Given the description of an element on the screen output the (x, y) to click on. 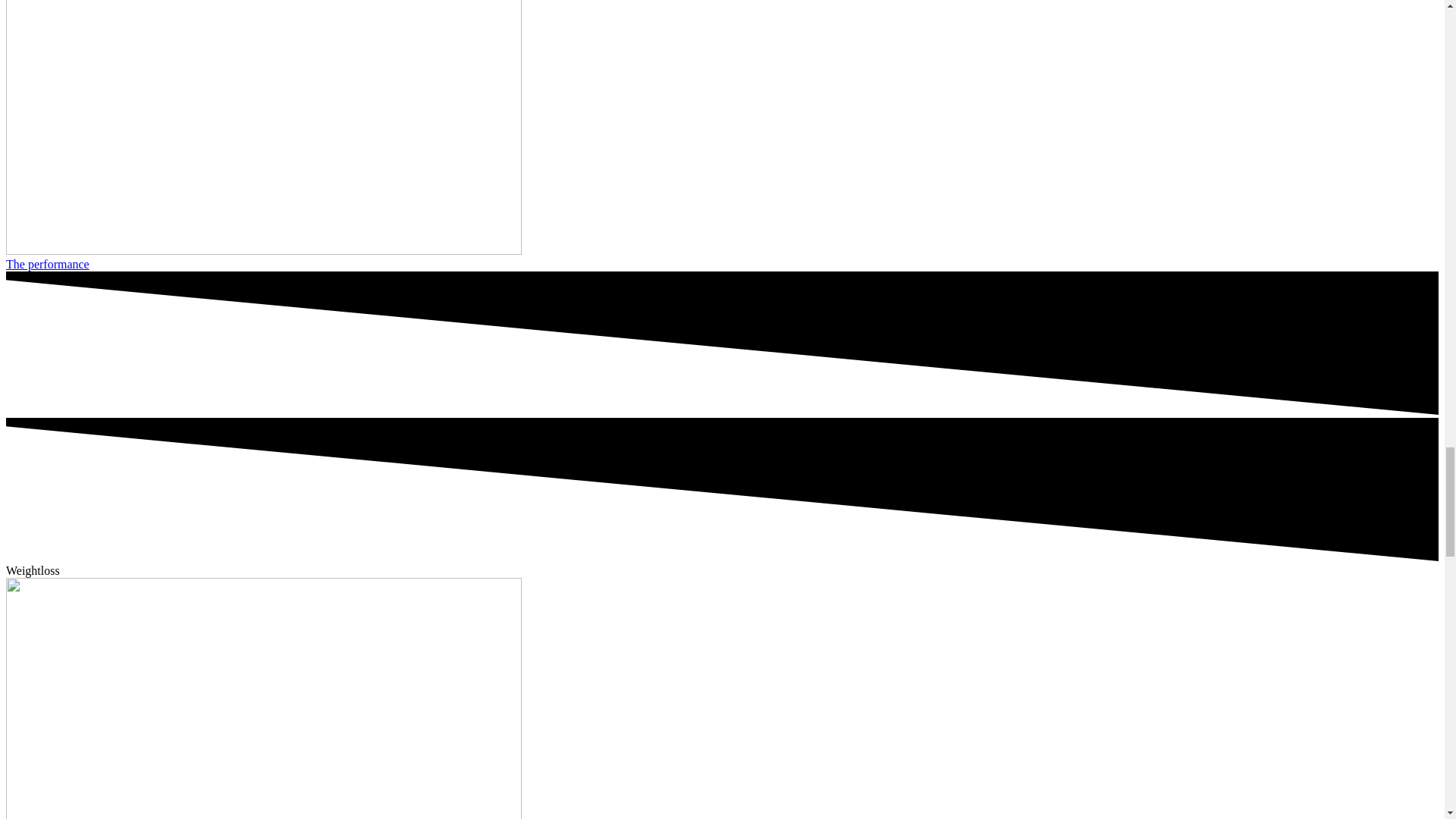
The performance (46, 264)
